Given the description of an element on the screen output the (x, y) to click on. 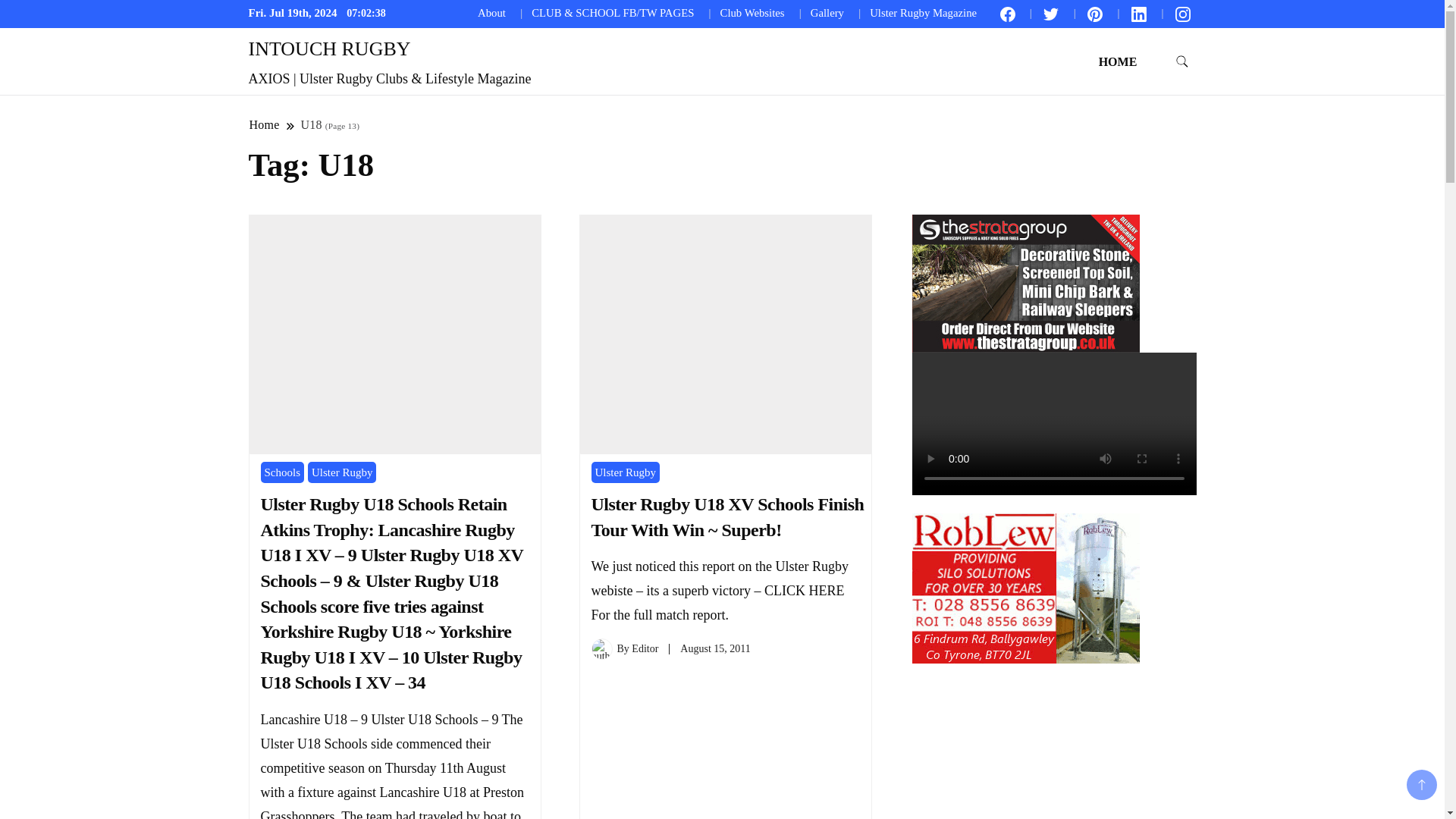
INTOUCH RUGBY (329, 48)
Club Websites (752, 12)
U18 (311, 124)
Editor (644, 648)
Ulster Rugby (625, 472)
Home (264, 124)
Ulster Rugby Magazine (922, 12)
Ulster Rugby (341, 472)
Schools (282, 472)
Advertisement (1024, 741)
About (491, 12)
Gallery (827, 12)
HOME (1118, 61)
August 15, 2011 (714, 648)
